Given the description of an element on the screen output the (x, y) to click on. 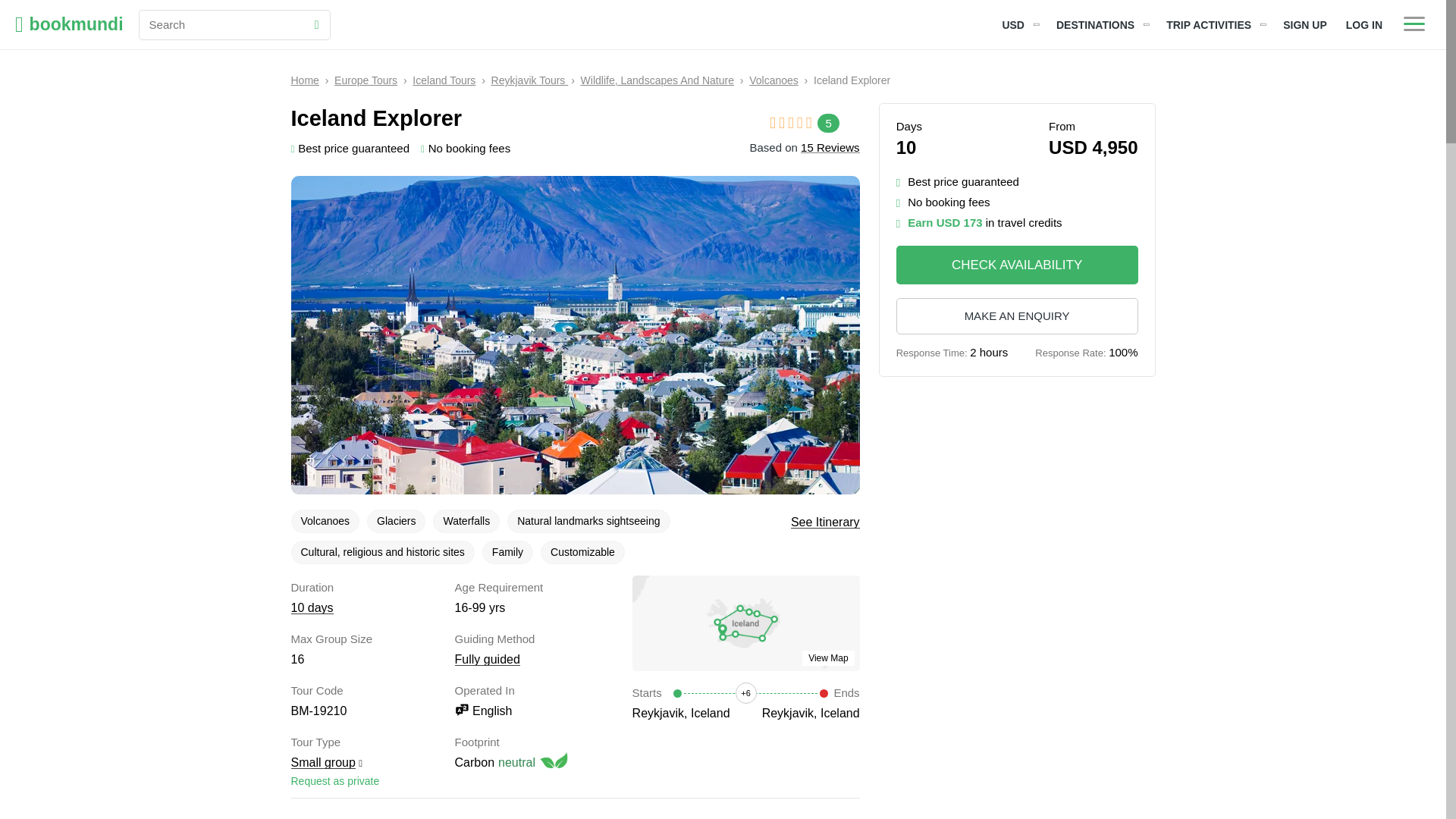
bookmundi (68, 24)
DESTINATIONS (1102, 24)
USD (1018, 24)
